Given the description of an element on the screen output the (x, y) to click on. 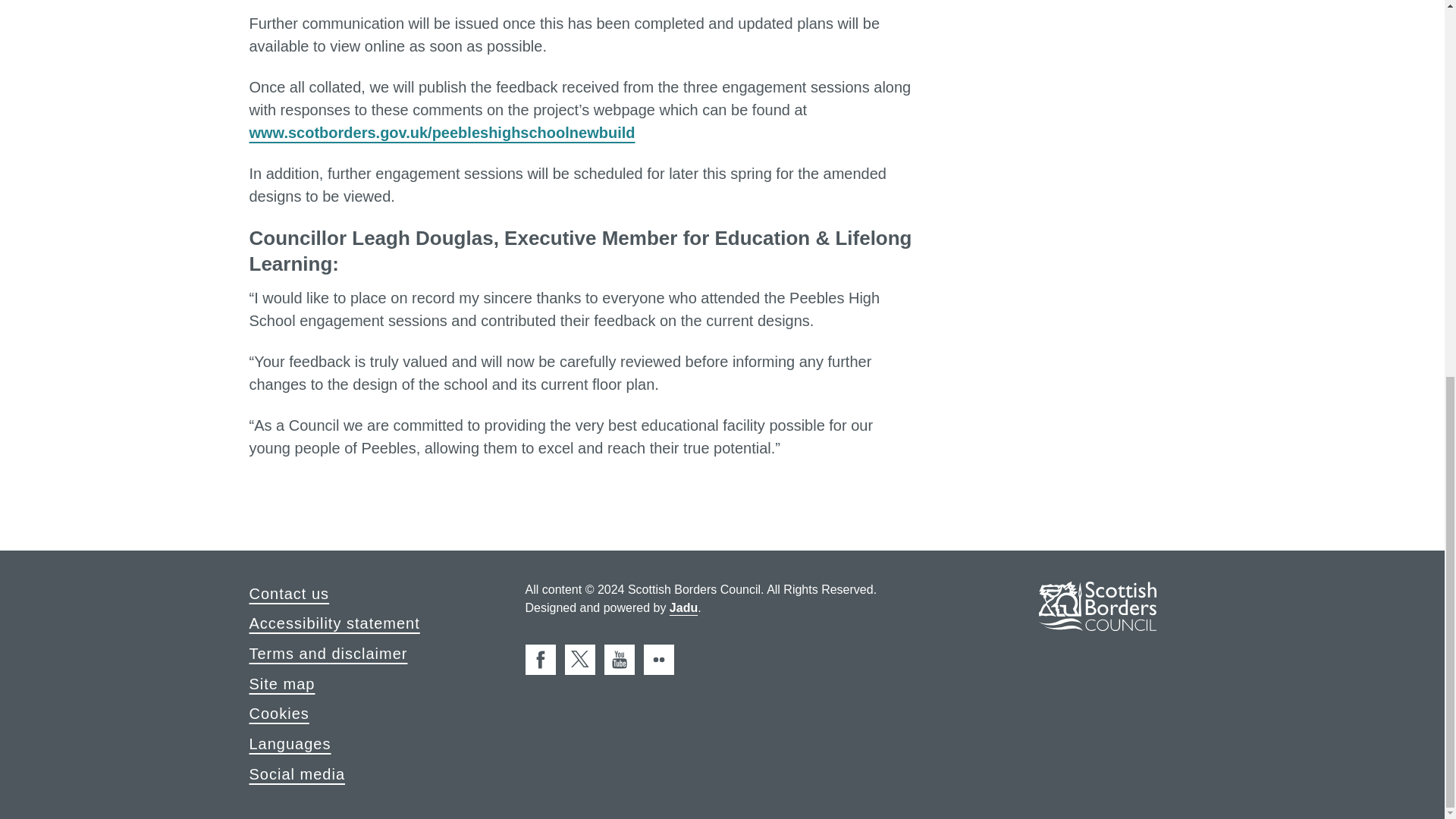
You Tube (618, 659)
Social media (296, 773)
Jadu (683, 607)
Terms and disclaimer (327, 653)
Languages (289, 743)
Contact us (288, 593)
Cookies (278, 712)
Flickr (657, 659)
Facebook (539, 659)
Accessibility statement (333, 622)
Site map (281, 683)
